Given the description of an element on the screen output the (x, y) to click on. 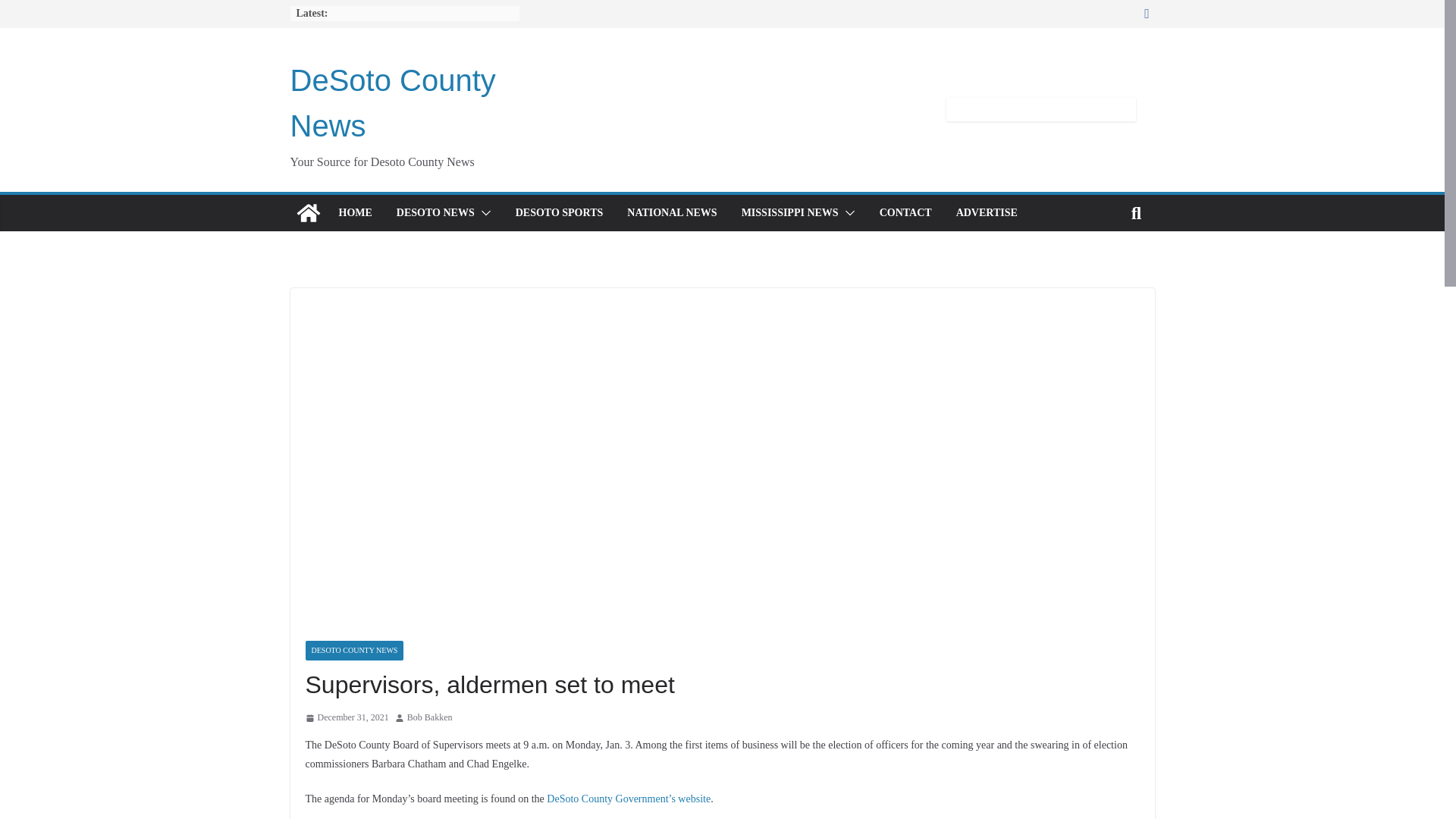
MISSISSIPPI NEWS (789, 212)
Bob Bakken (429, 718)
CONTACT (905, 212)
NATIONAL NEWS (671, 212)
DeSoto County News (392, 102)
DeSoto County News (307, 212)
12:18 pm (346, 718)
HOME (354, 212)
December 31, 2021 (346, 718)
DESOTO COUNTY NEWS (353, 650)
